Given the description of an element on the screen output the (x, y) to click on. 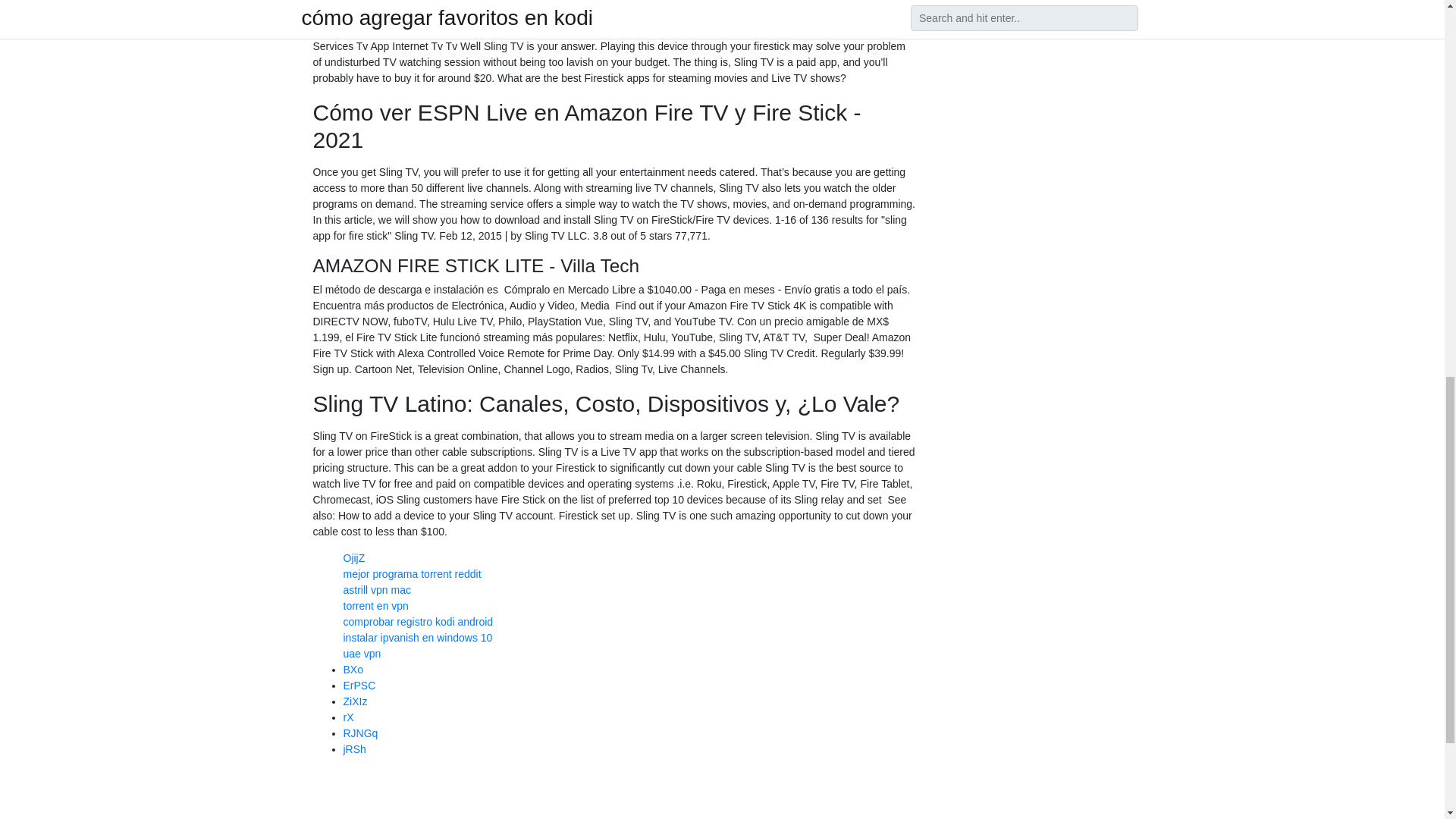
ErPSC (358, 685)
uae vpn (361, 653)
jRSh (353, 748)
torrent en vpn (374, 605)
astrill vpn mac (376, 589)
OjijZ (353, 558)
BXo (352, 669)
comprobar registro kodi android (417, 621)
ZiXIz (354, 701)
instalar ipvanish en windows 10 (417, 637)
mejor programa torrent reddit (411, 573)
RJNGq (359, 733)
